Given the description of an element on the screen output the (x, y) to click on. 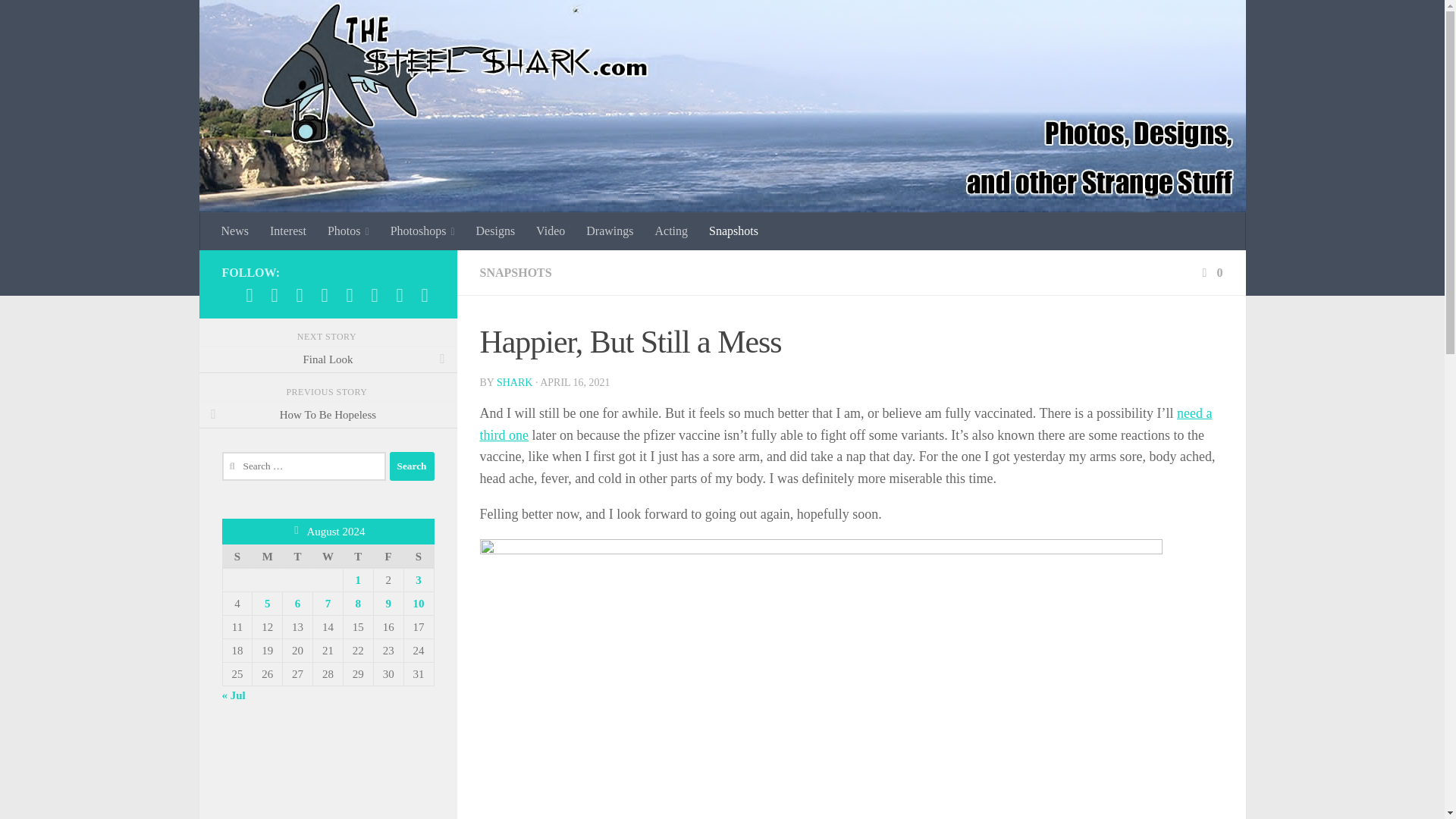
Search (411, 466)
See my Store (399, 294)
Follow on Instagram (273, 294)
Snapshots (733, 231)
0 (1210, 272)
Monday (266, 556)
Follow us on Tiktok (348, 294)
Posts by shark (514, 382)
Skip to content (59, 20)
Video (550, 231)
